Given the description of an element on the screen output the (x, y) to click on. 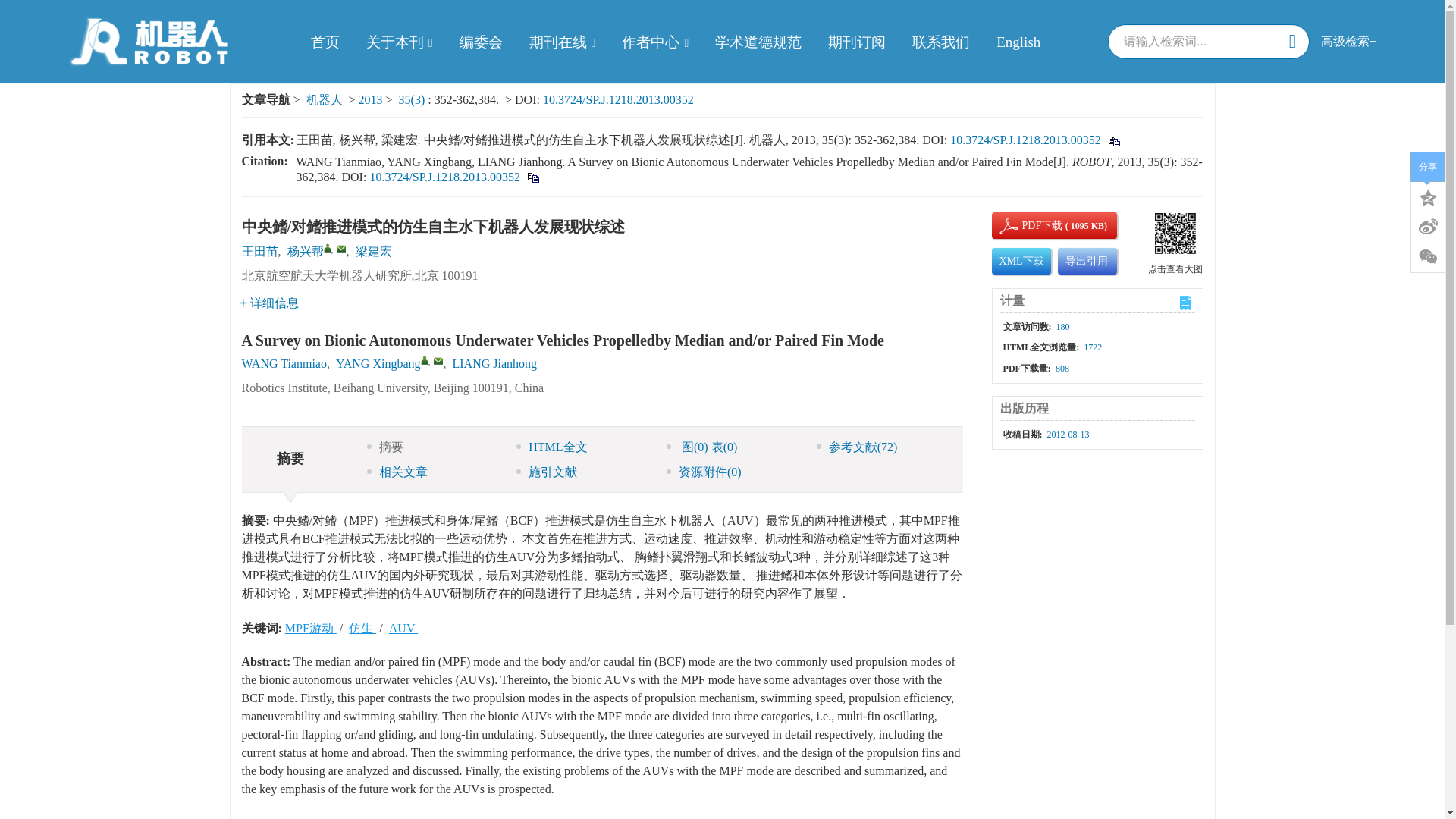
English (1018, 40)
copy to clipboard (531, 176)
